Given the description of an element on the screen output the (x, y) to click on. 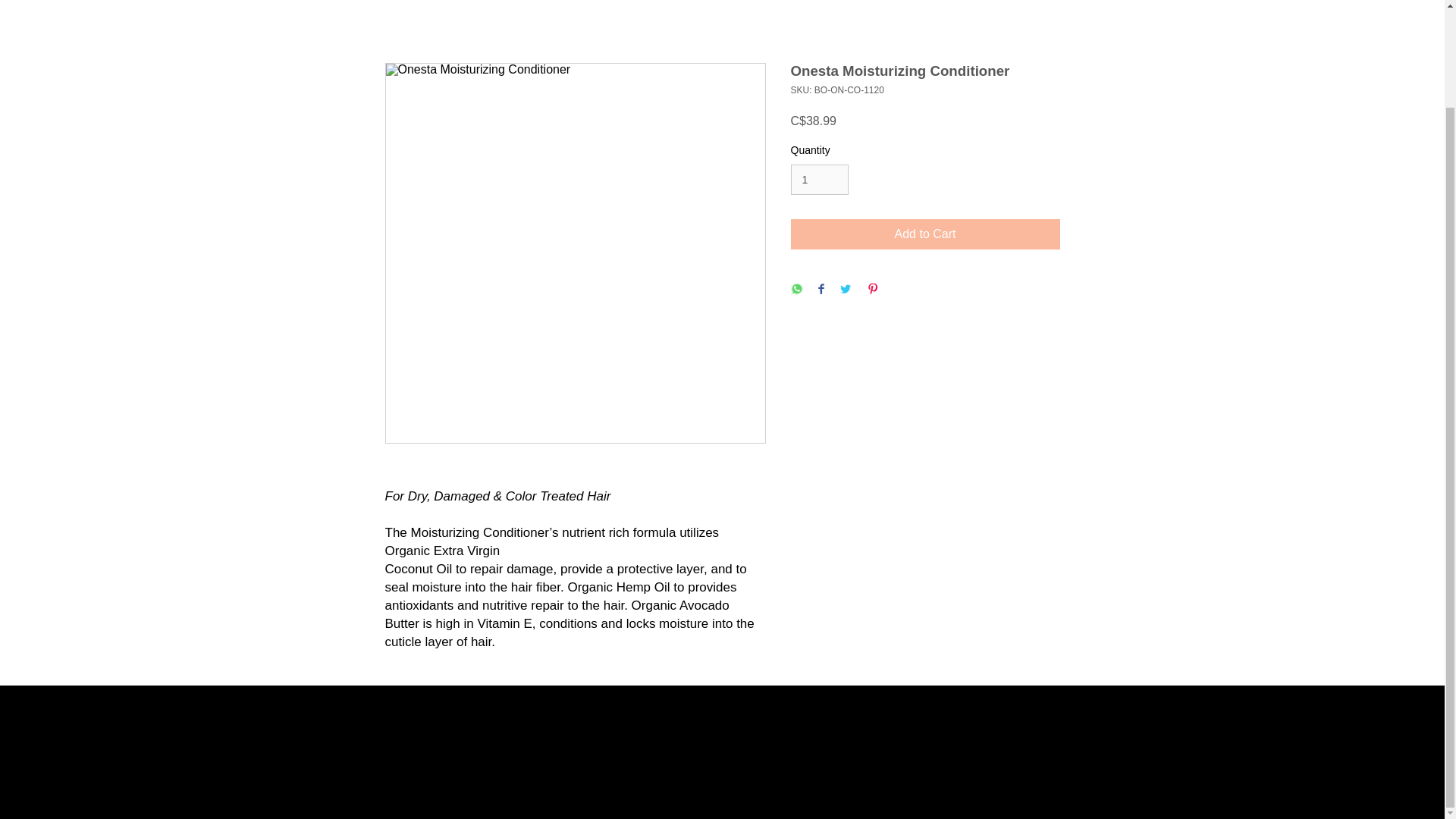
Add to Cart (924, 234)
1 (818, 179)
